Given the description of an element on the screen output the (x, y) to click on. 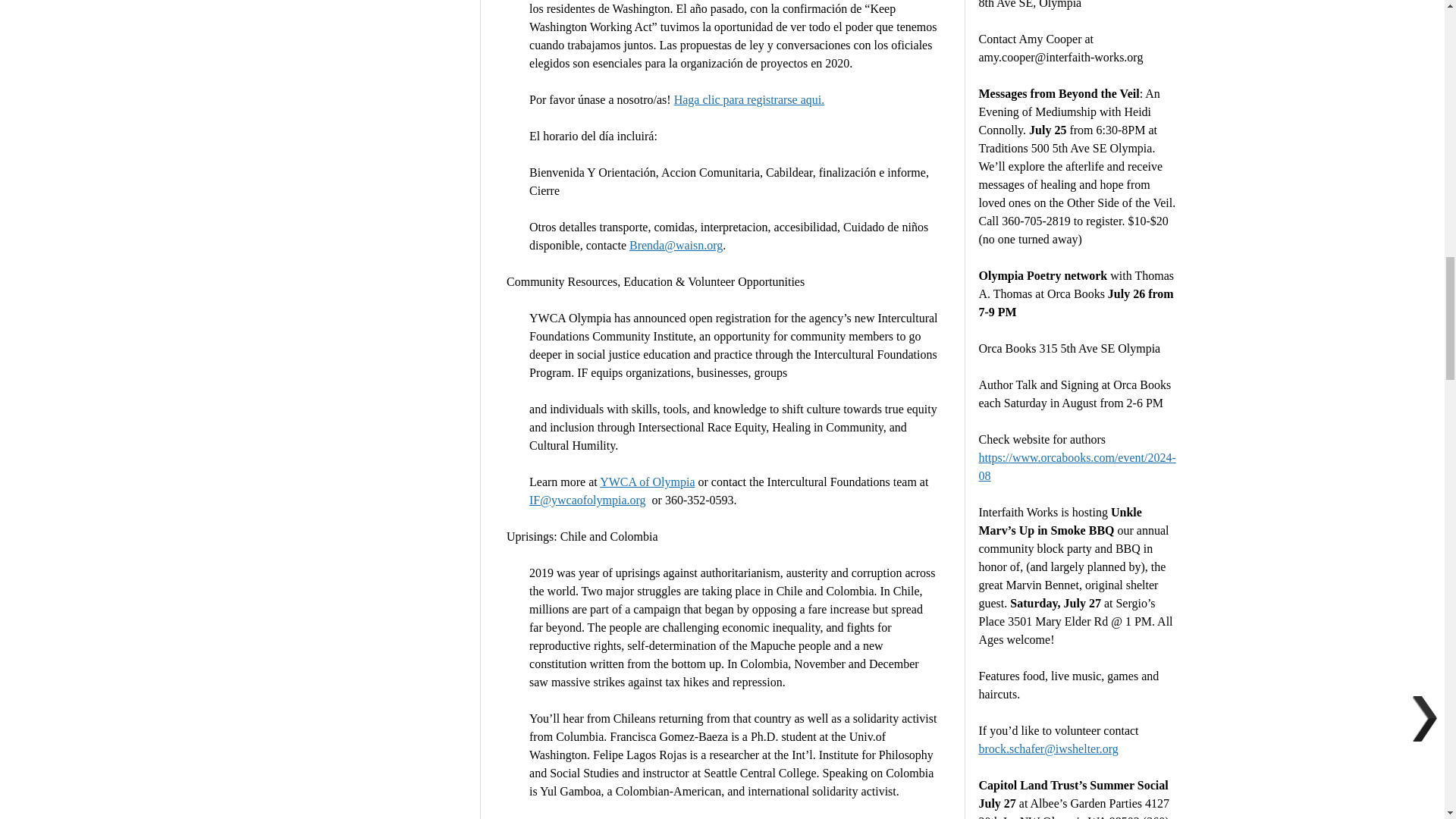
Haga clic para registrarse aqui. (749, 99)
